Given the description of an element on the screen output the (x, y) to click on. 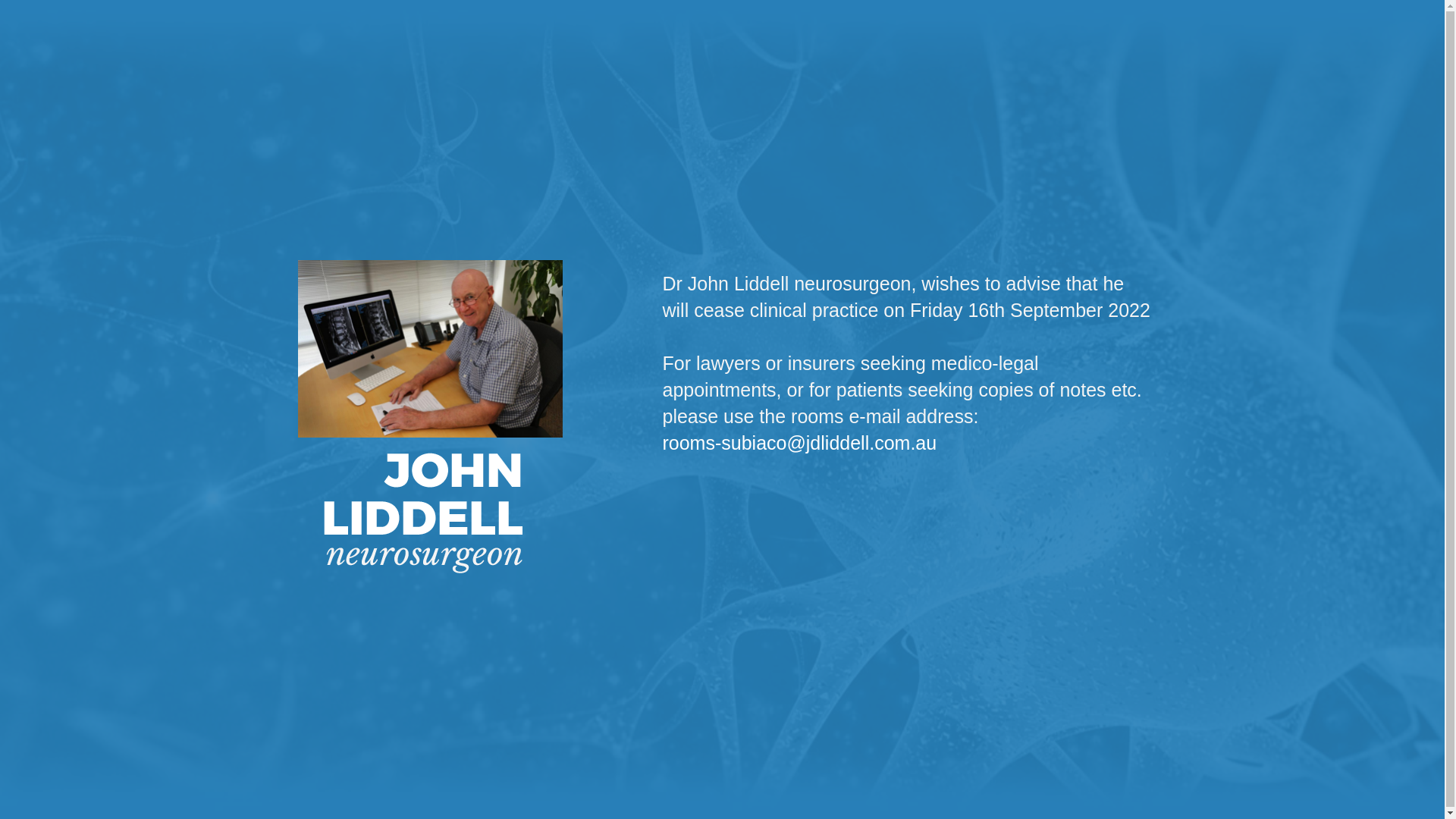
rooms-subiaco@jdliddell.com.au Element type: text (799, 442)
